Given the description of an element on the screen output the (x, y) to click on. 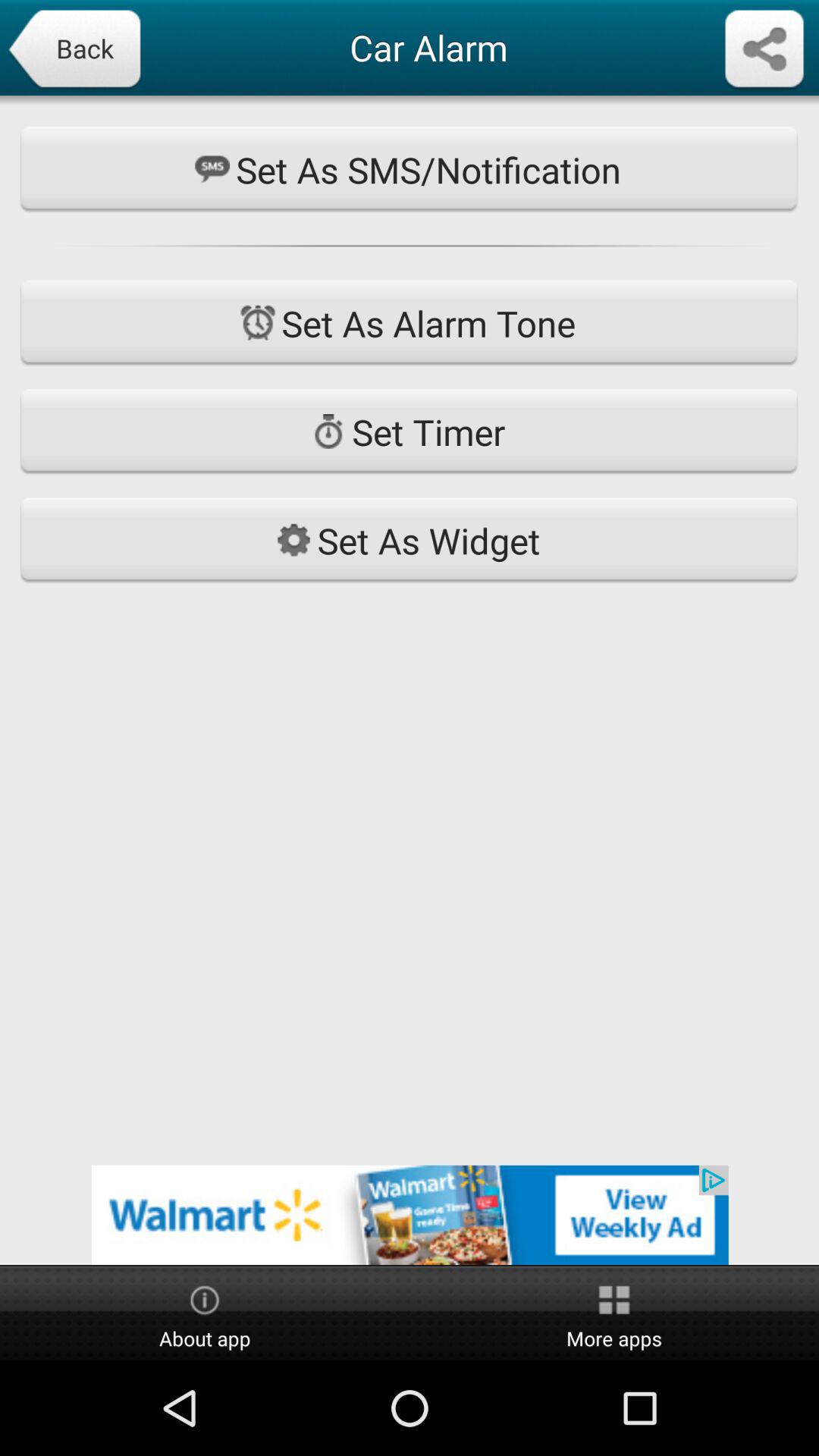
share (764, 50)
